Given the description of an element on the screen output the (x, y) to click on. 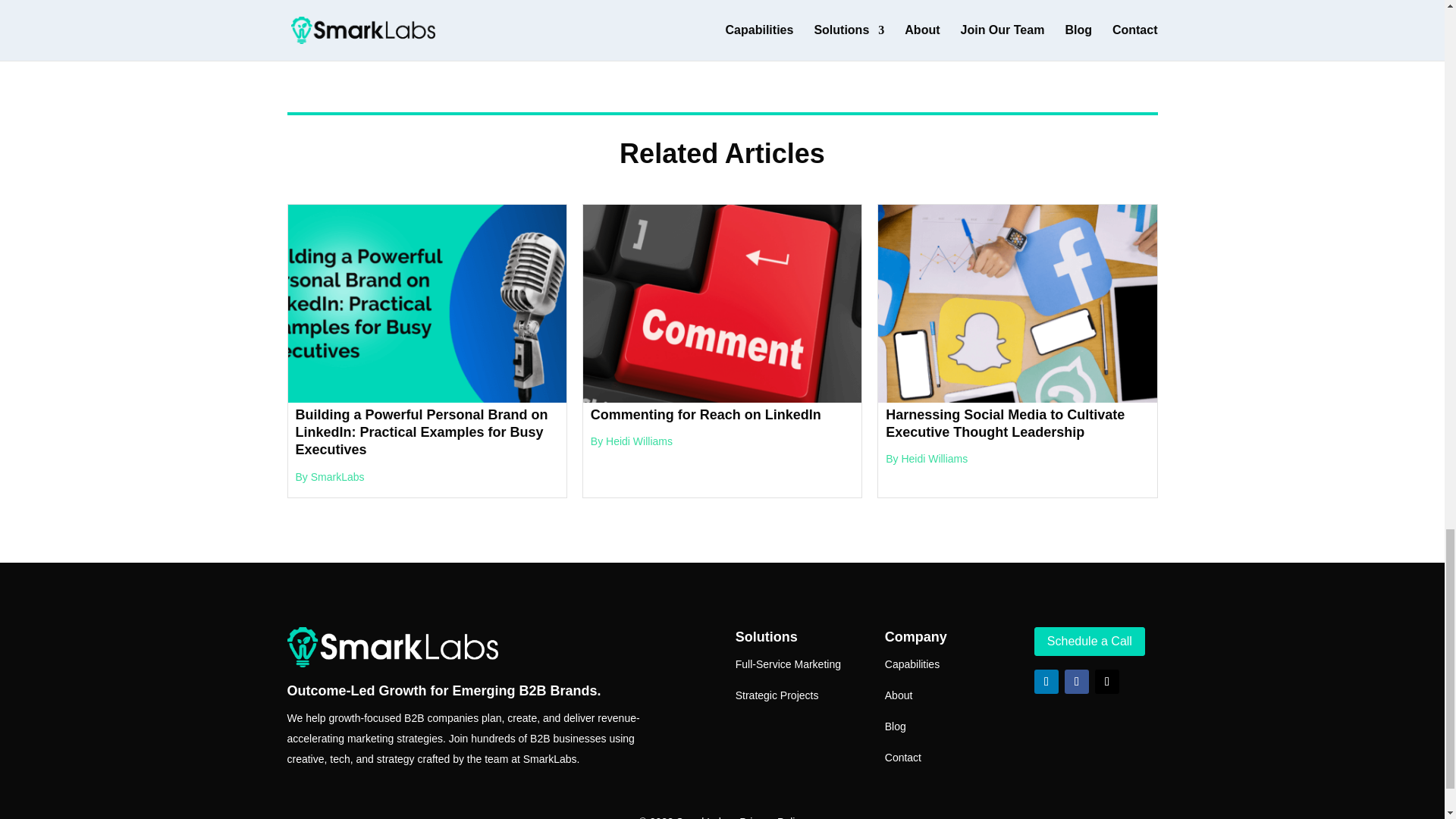
Follow on LinkedIn (1045, 681)
Strategic Projects (776, 695)
Blog (895, 726)
By Heidi Williams (926, 458)
Contact (903, 757)
Capabilities (912, 664)
By SmarkLabs (330, 476)
By Heidi Williams (631, 440)
Follow on Facebook (1076, 681)
Schedule a Call (1088, 641)
Full-Service Marketing (788, 664)
Follow on X (1106, 681)
About (898, 695)
